Given the description of an element on the screen output the (x, y) to click on. 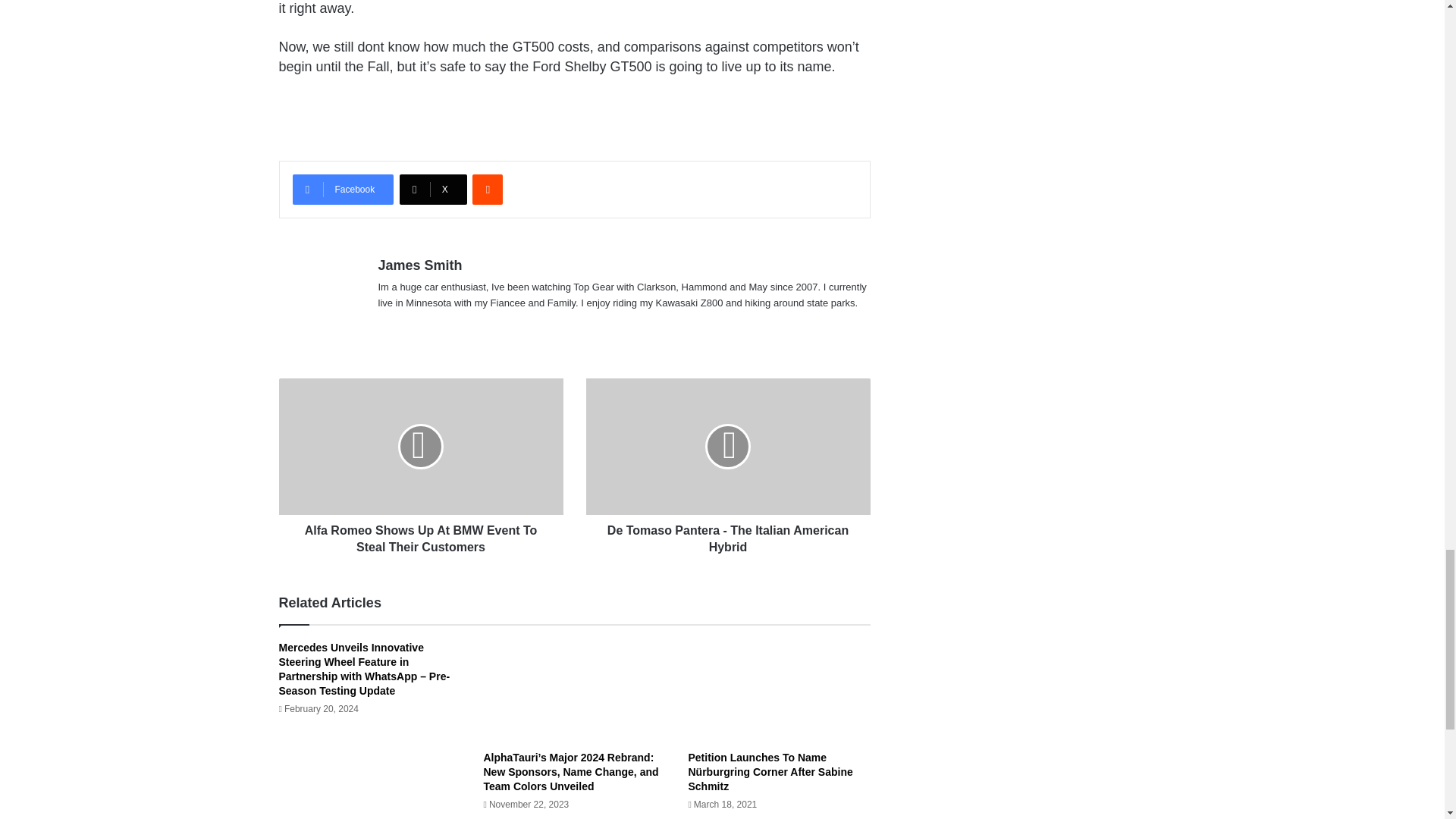
Reddit (486, 189)
X (432, 189)
Facebook (343, 189)
